Given the description of an element on the screen output the (x, y) to click on. 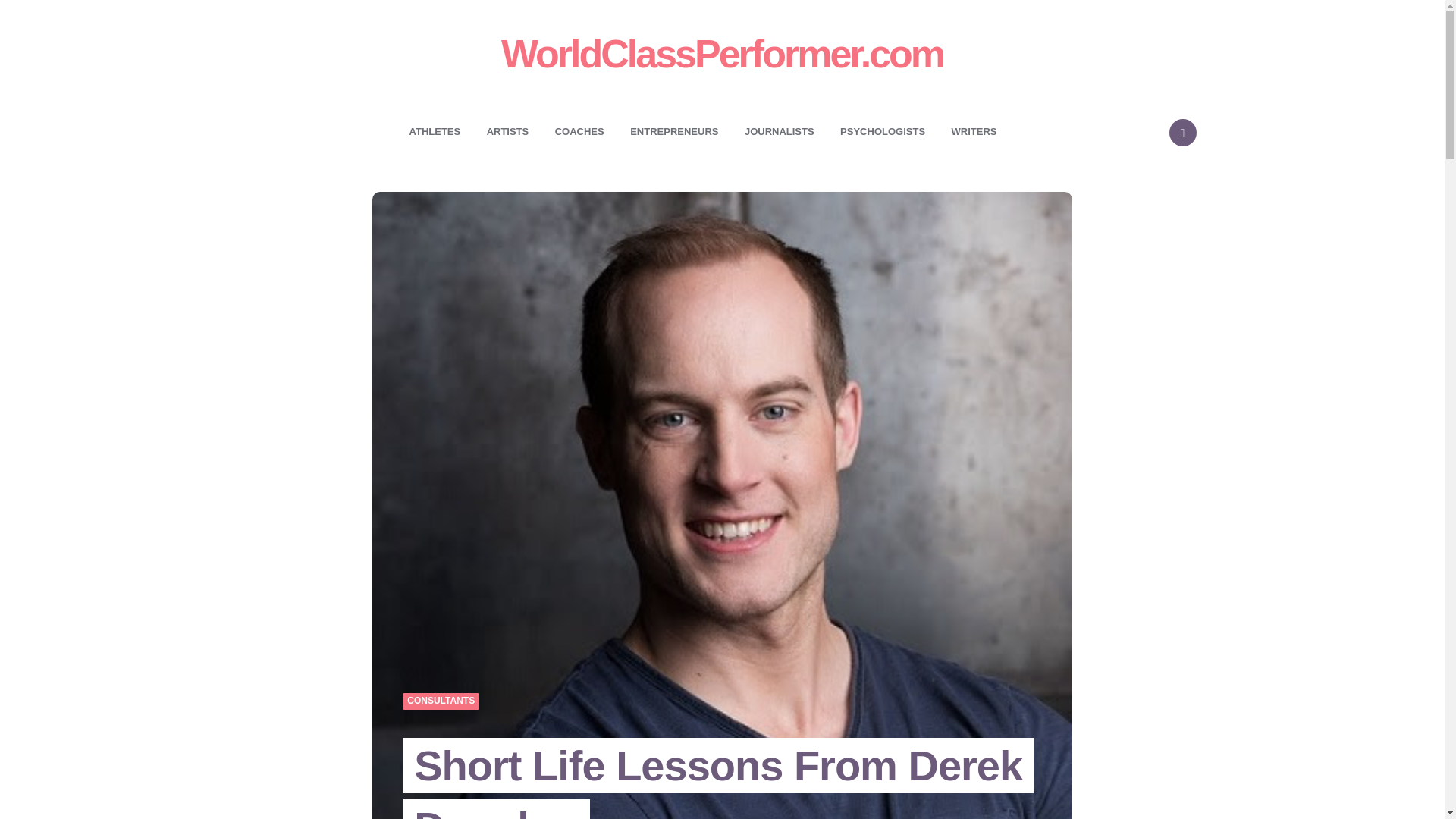
ENTREPRENEURS (673, 131)
COACHES (579, 131)
WRITERS (974, 131)
PSYCHOLOGISTS (882, 131)
ATHLETES (434, 131)
JOURNALISTS (779, 131)
CONSULTANTS (440, 701)
ARTISTS (508, 131)
WorldClassPerformer.com (721, 53)
